Given the description of an element on the screen output the (x, y) to click on. 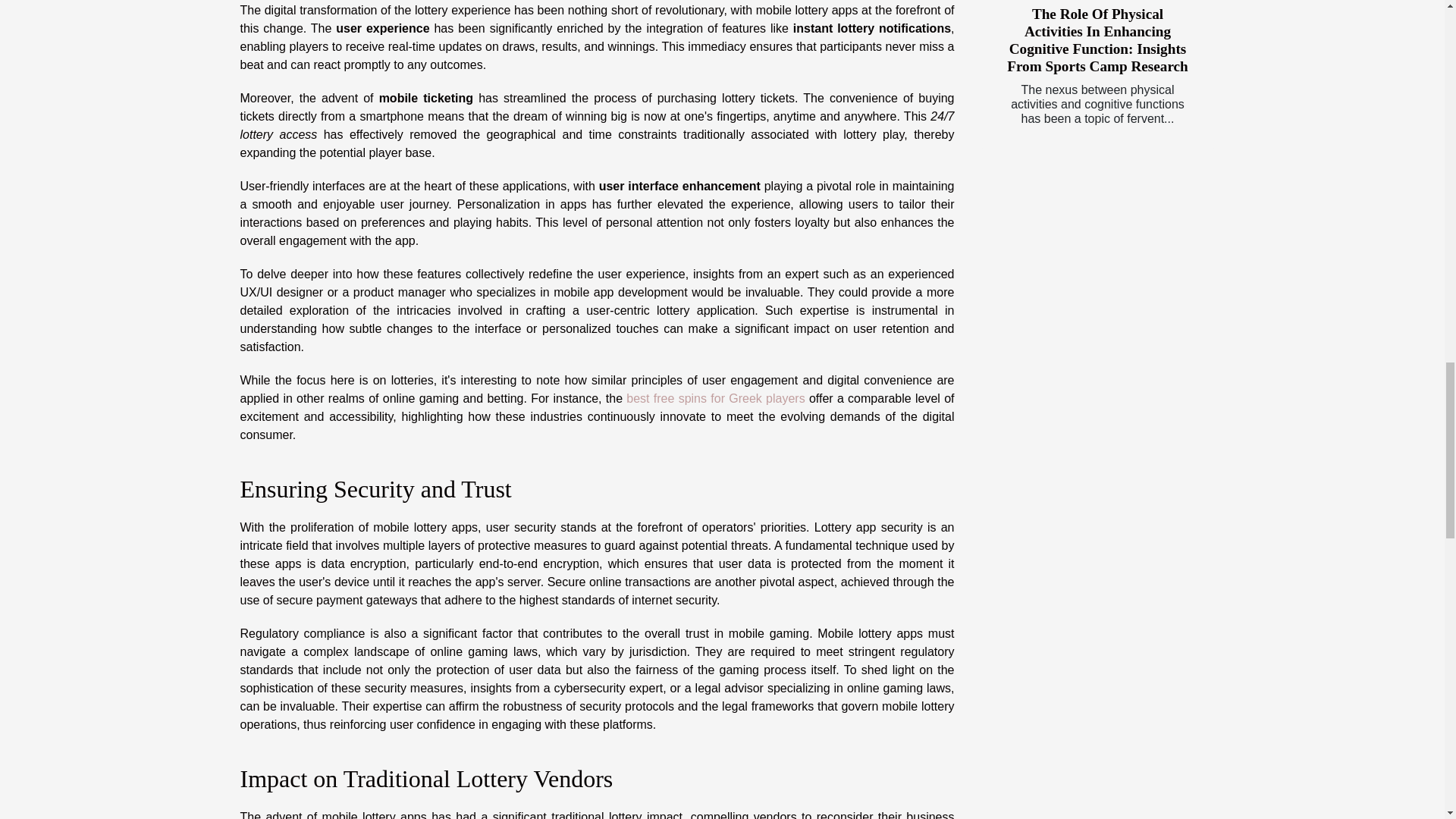
best free spins for Greek players (715, 398)
